Given the description of an element on the screen output the (x, y) to click on. 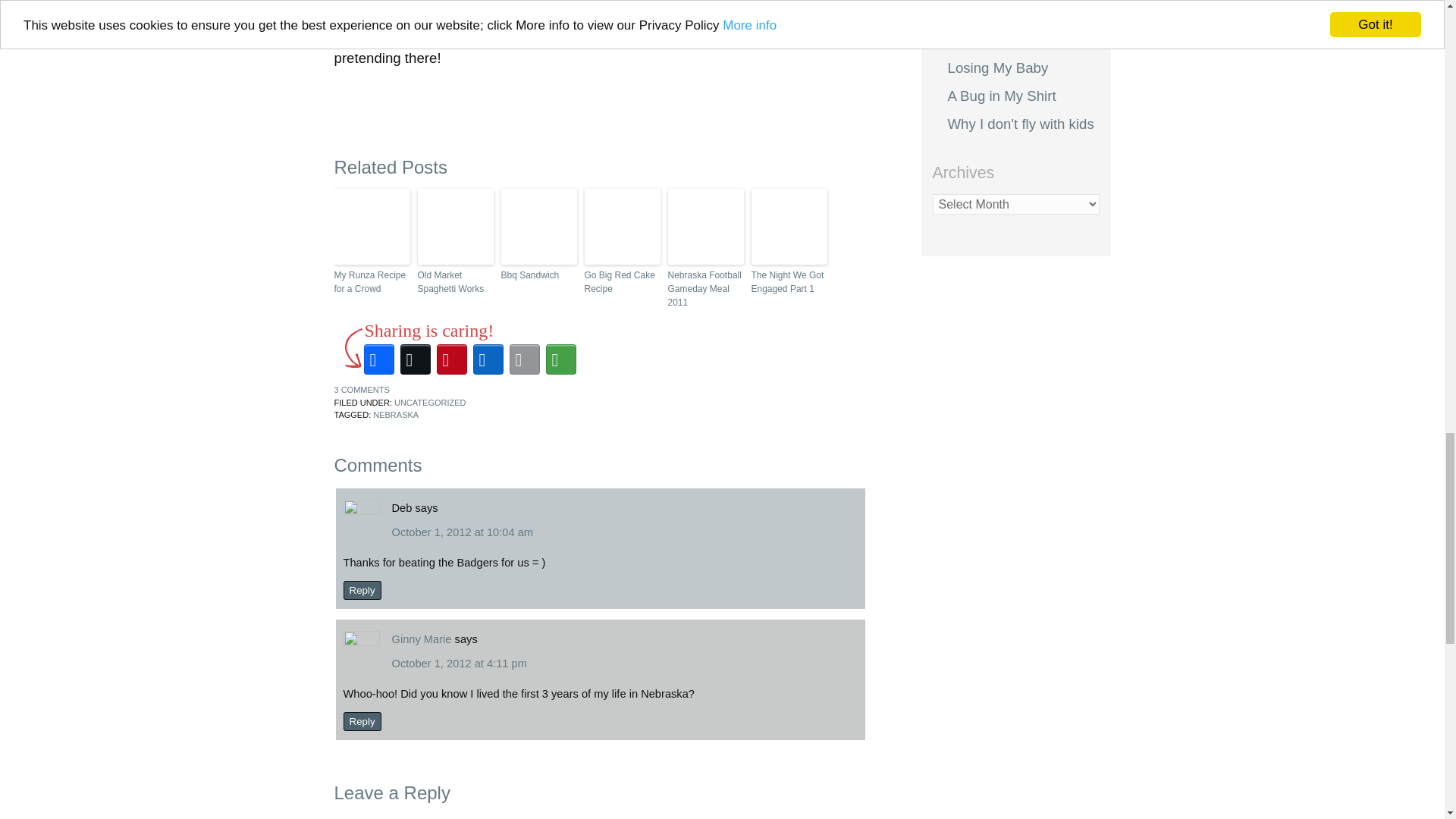
Facebook (379, 359)
Email This (524, 359)
LinkedIn (488, 359)
More Options (561, 359)
Pinterest (451, 359)
